Given the description of an element on the screen output the (x, y) to click on. 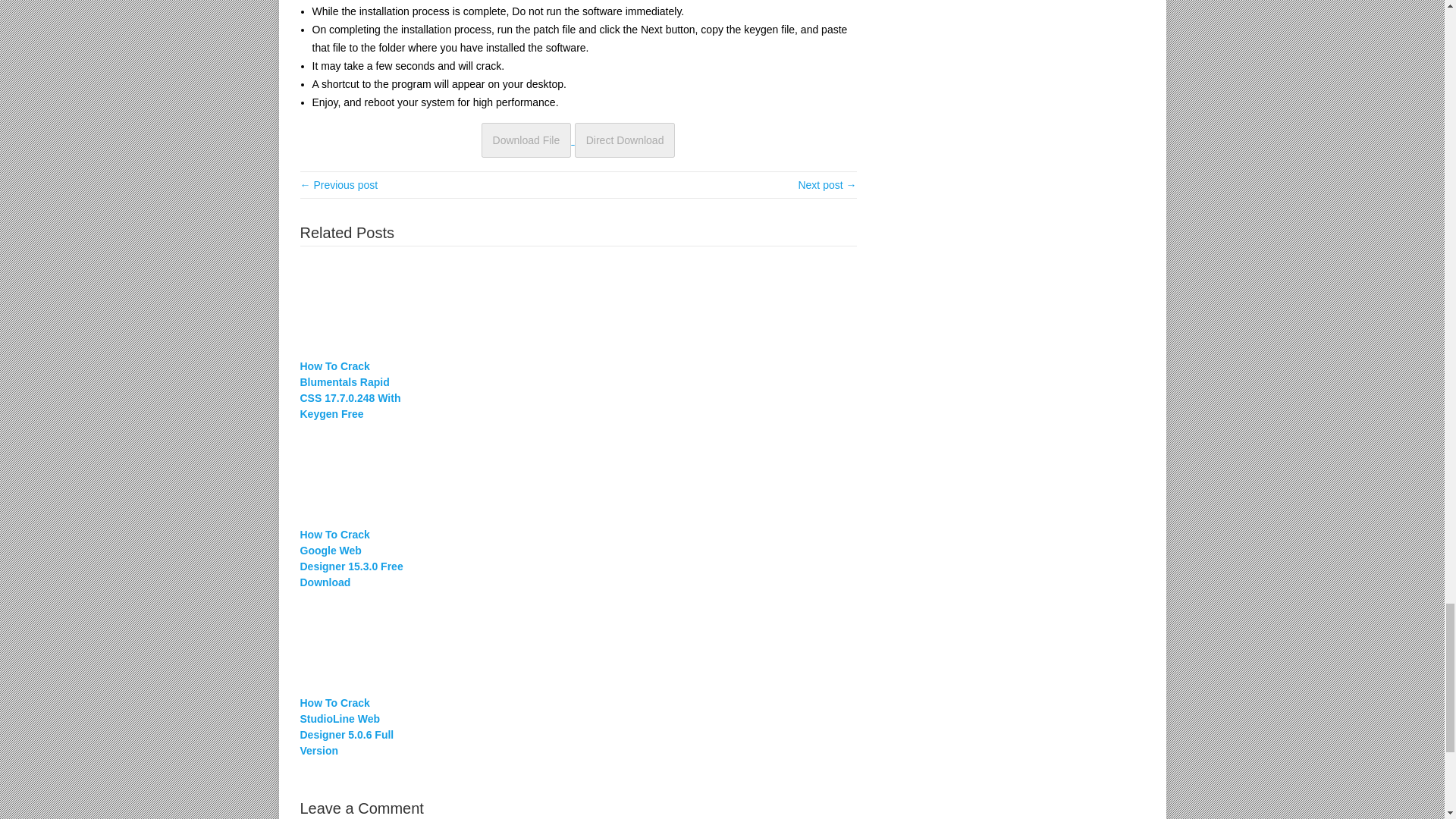
How To Crack StudioLine Web Designer 5.0.6 Full Version (351, 727)
How To Crack StudioLine Web Designer 5.0.6 Full Version (578, 642)
How To Crack PDQ Inventory Enterprise 19.4.42.1 License Key (826, 184)
Download File Direct Download (578, 139)
Direct Download (625, 140)
How To Crack Google Web Designer 15.3.0 Free Download (351, 558)
Download File (526, 140)
How To Crack StudioLine Web Designer 5.0.6 Full Version (351, 727)
How To Crack Google Web Designer 15.3.0 Free Download (578, 474)
